Given the description of an element on the screen output the (x, y) to click on. 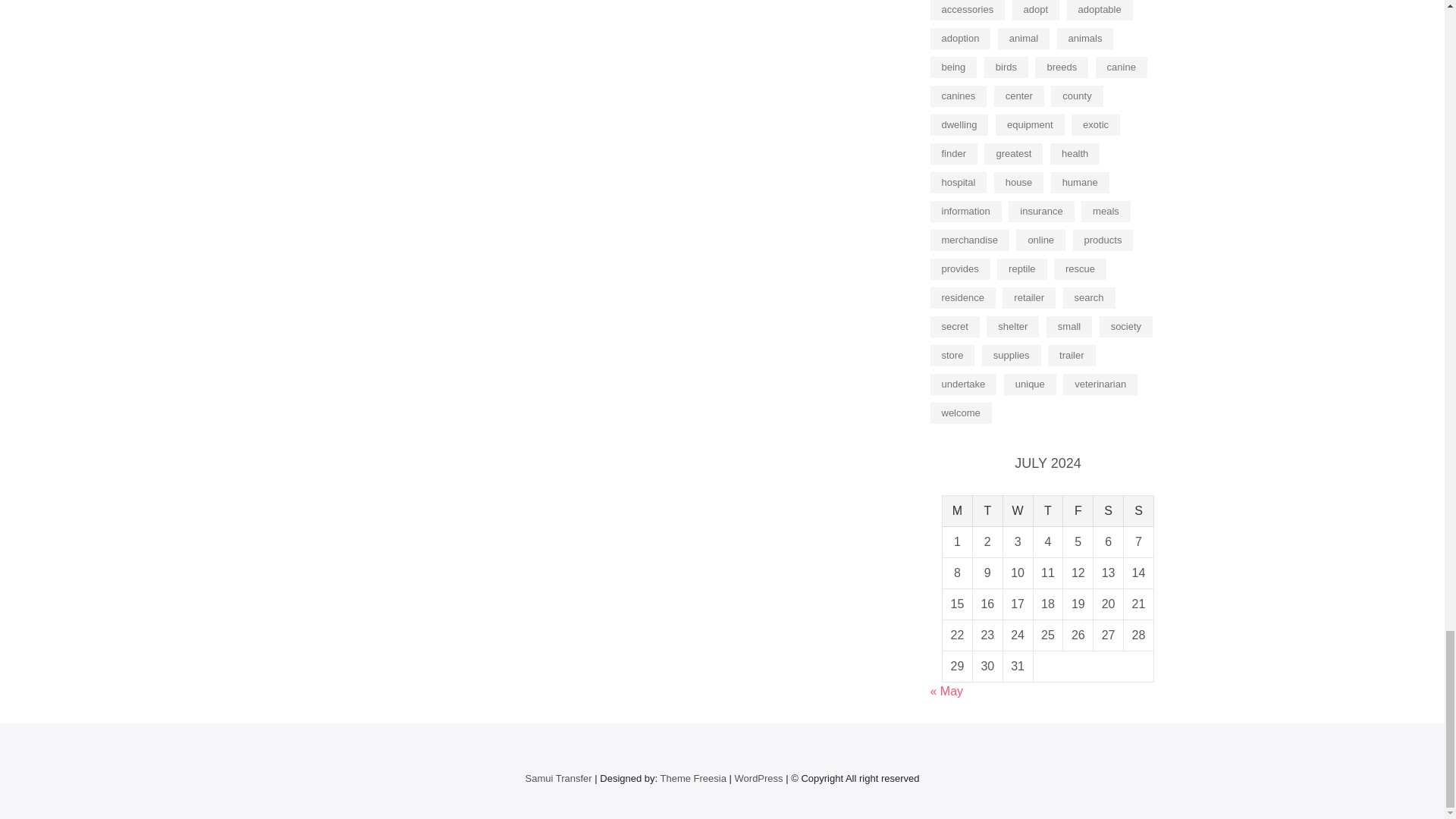
Sunday (1139, 511)
Saturday (1108, 511)
Tuesday (987, 511)
Friday (1077, 511)
Wednesday (1018, 511)
Samui Transfer (557, 778)
Thursday (1048, 511)
Monday (957, 511)
